Given the description of an element on the screen output the (x, y) to click on. 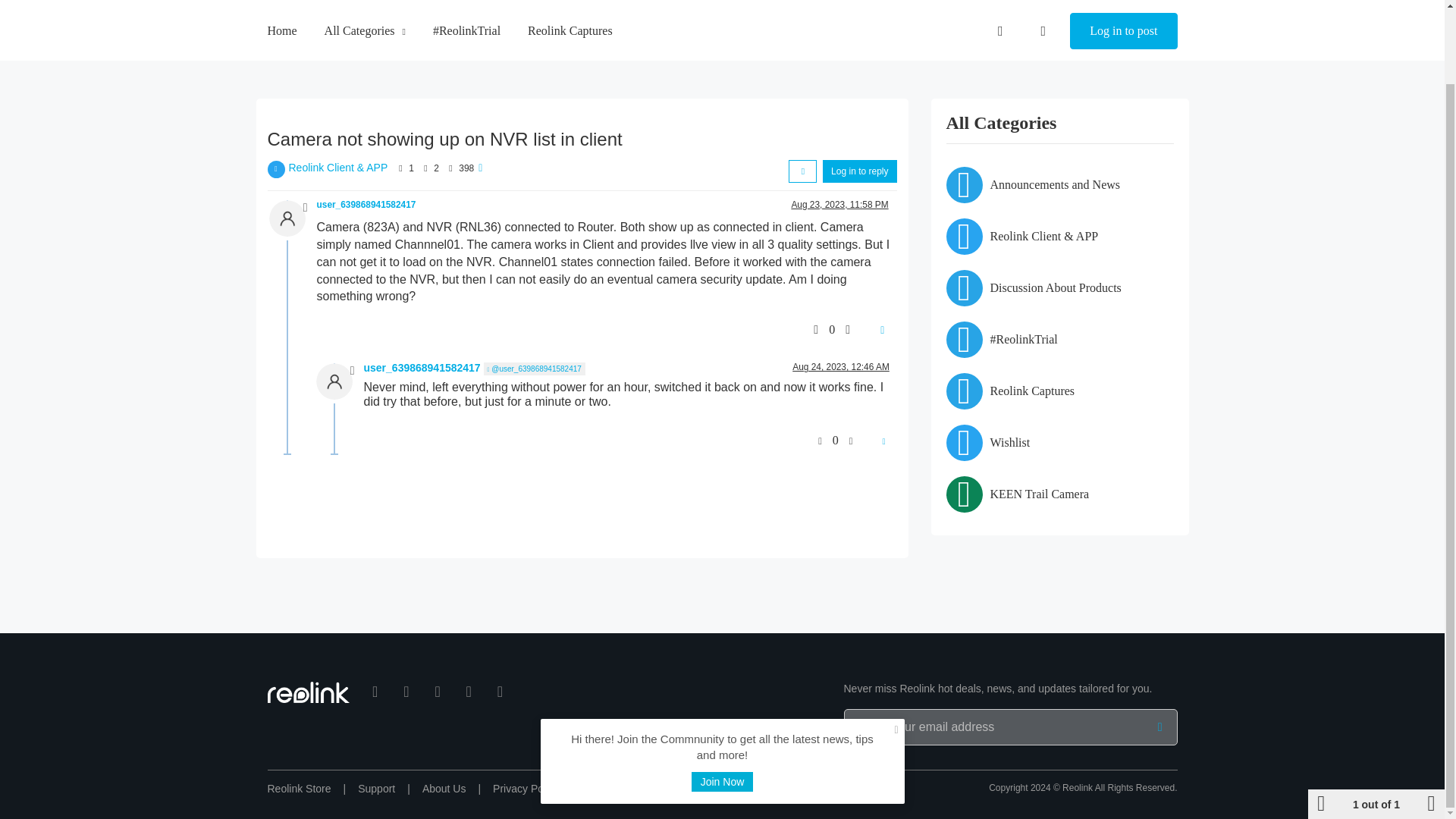
Posters (400, 167)
Posts (425, 167)
398 (466, 167)
Log in to reply (859, 170)
Aug 23, 2023, 11:58 PM (839, 204)
Views (451, 167)
Aug 23, 2023, 11:58 PM (839, 204)
Log in to post (1123, 5)
